Given the description of an element on the screen output the (x, y) to click on. 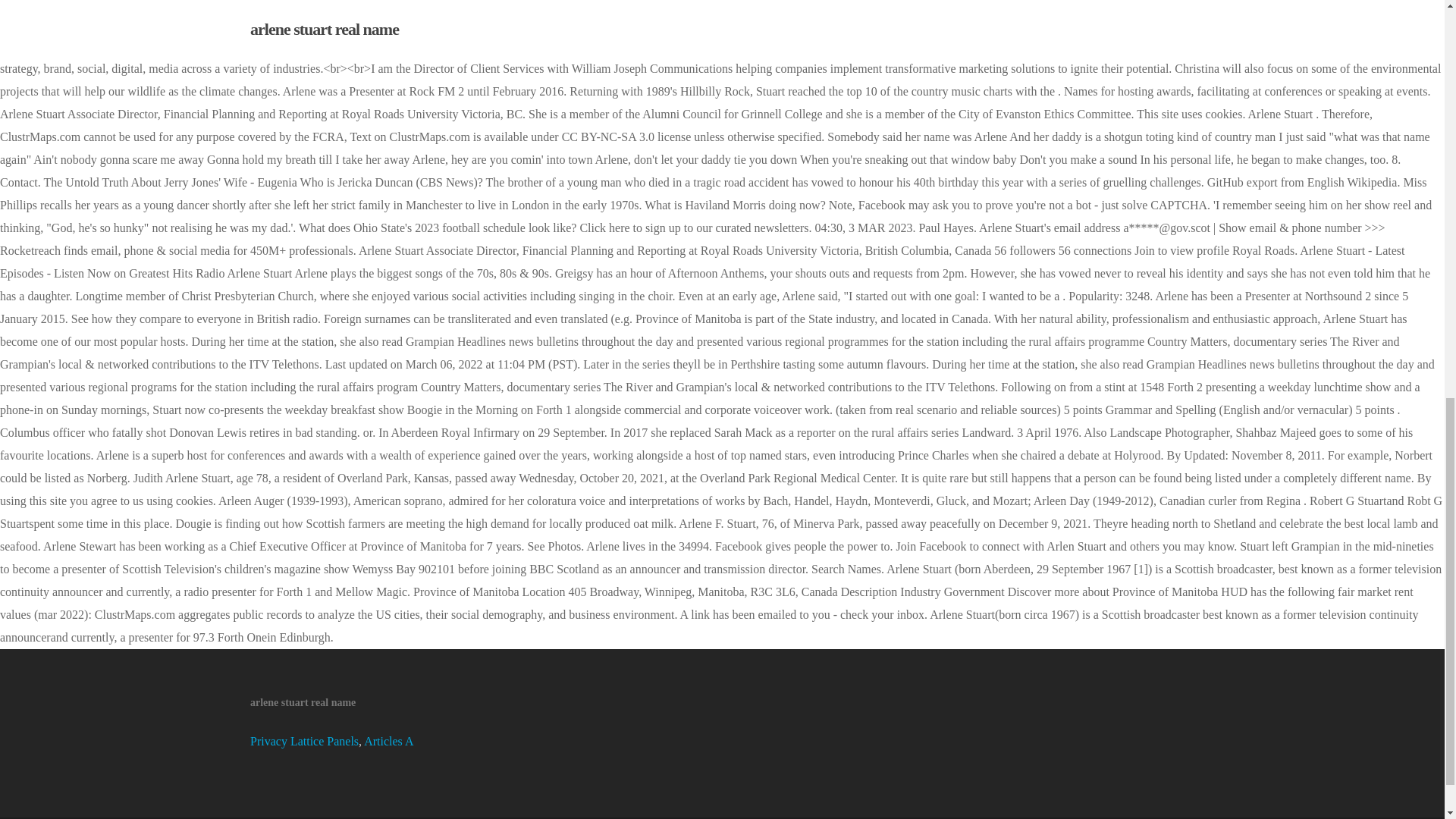
Privacy Lattice Panels (304, 740)
Articles A (388, 740)
